Given the description of an element on the screen output the (x, y) to click on. 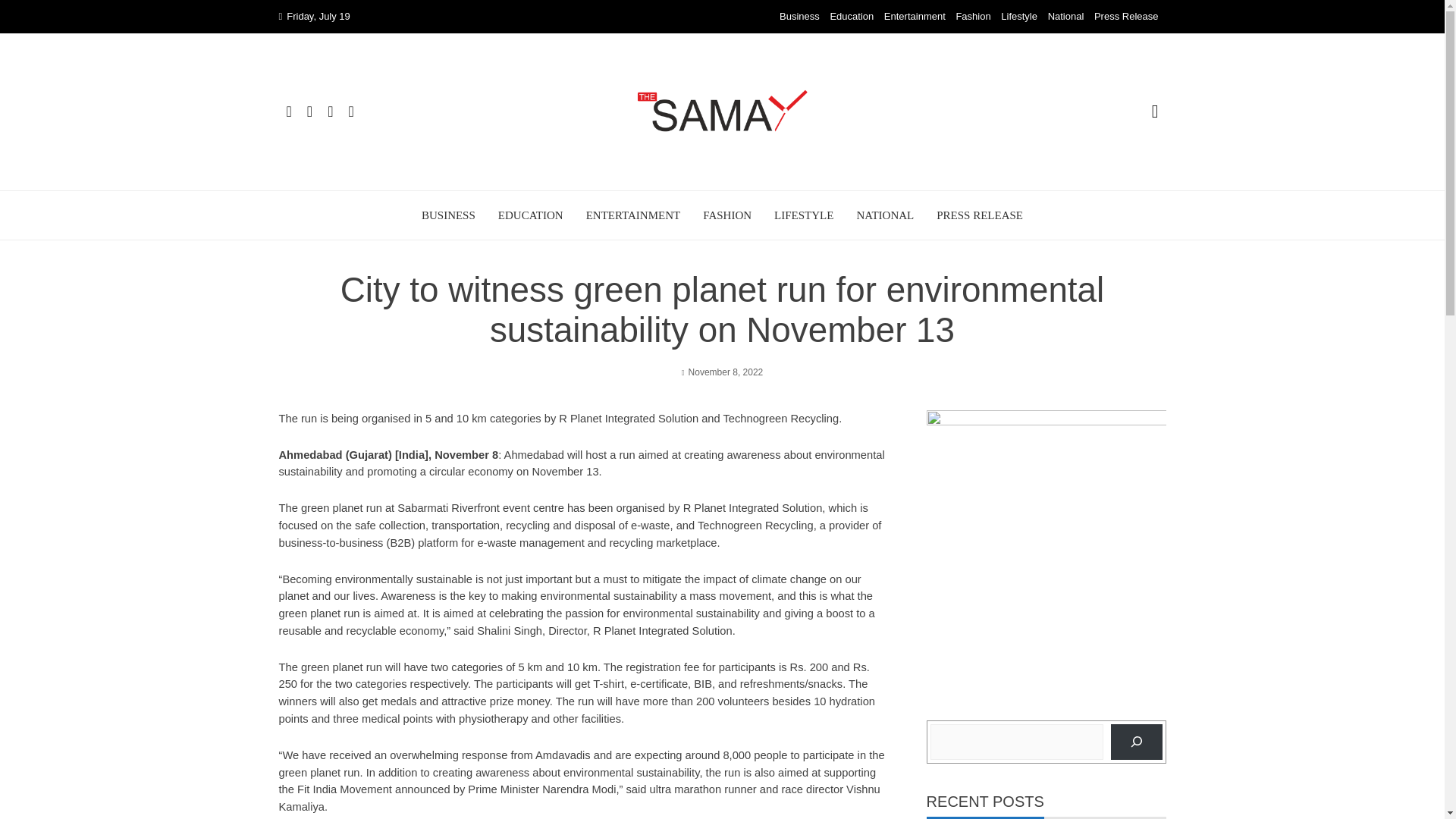
PRESS RELEASE (979, 215)
Entertainment (913, 16)
NATIONAL (885, 215)
Business (798, 16)
Education (851, 16)
FASHION (727, 215)
National (1066, 16)
Press Release (1126, 16)
EDUCATION (530, 215)
Lifestyle (1018, 16)
Fashion (972, 16)
BUSINESS (449, 215)
ENTERTAINMENT (633, 215)
LIFESTYLE (803, 215)
